Given the description of an element on the screen output the (x, y) to click on. 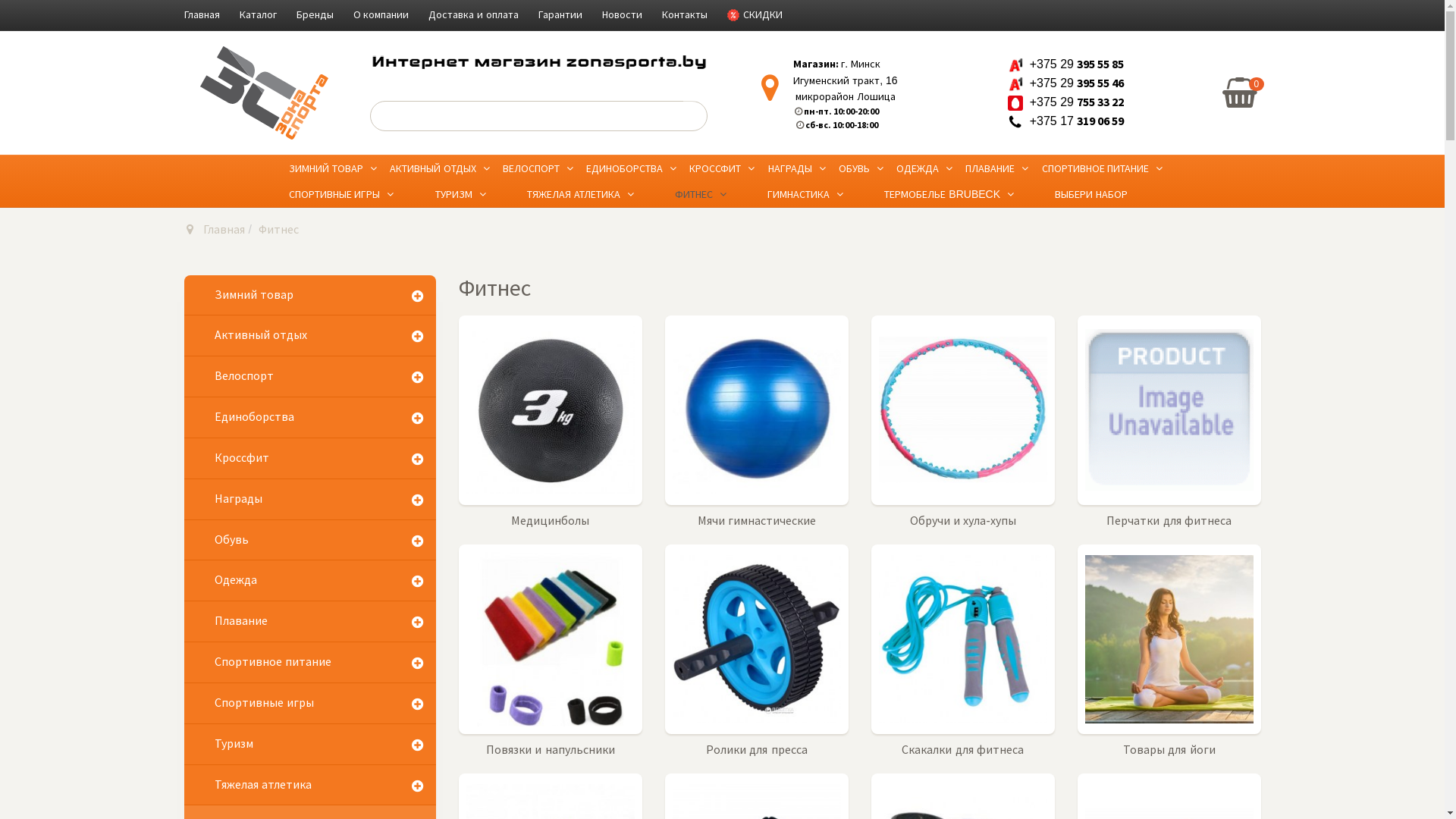
 +375 29 395 55 85 Element type: text (1065, 63)
 +375 17 319 06 59 Element type: text (1065, 120)
 +375 29 395 55 46 Element type: text (1065, 82)
 +375 29 755 33 22 Element type: text (1065, 101)
0 Element type: text (1239, 92)
